Given the description of an element on the screen output the (x, y) to click on. 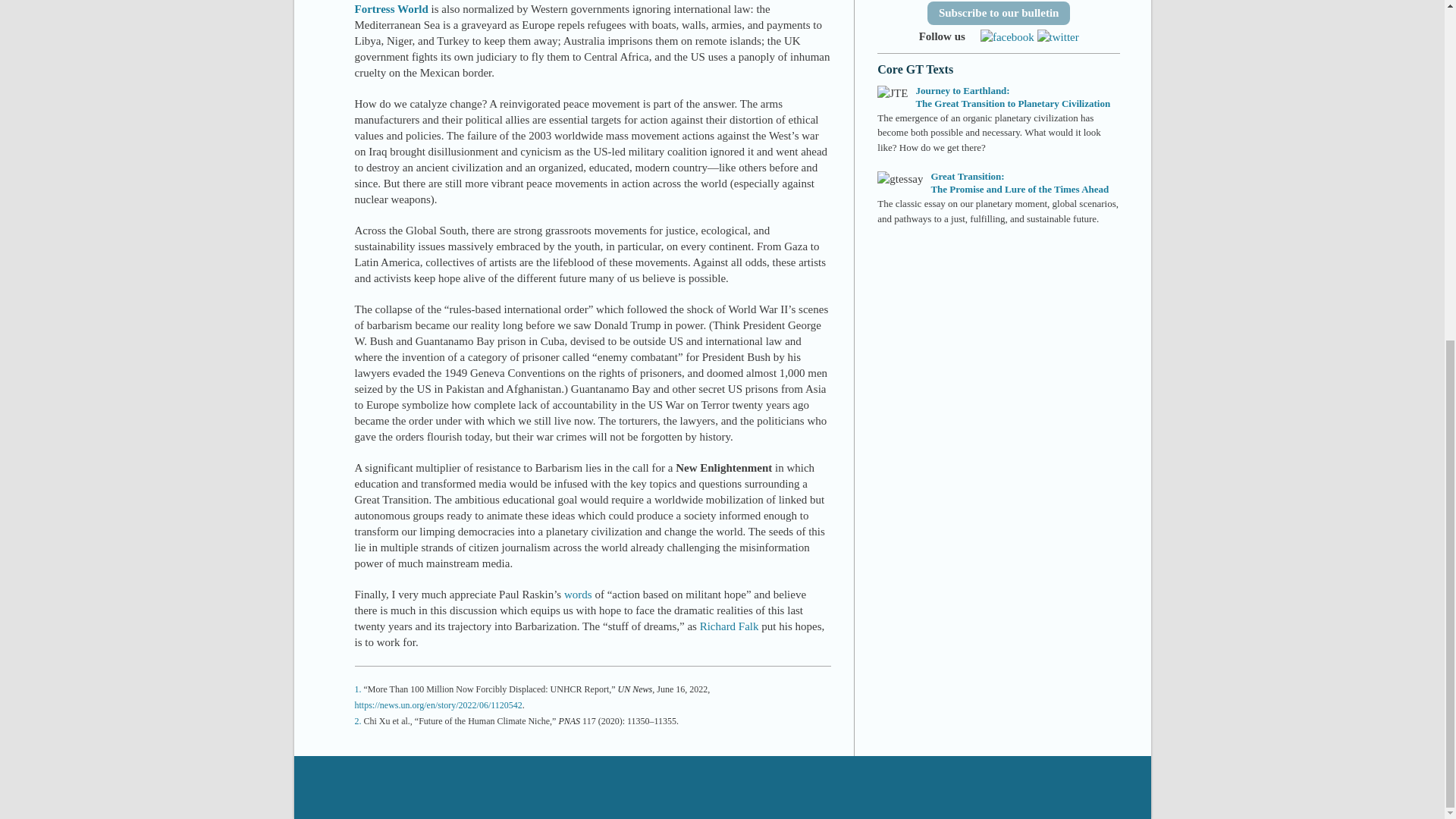
Fortress World (391, 9)
words (578, 594)
Richard Falk (729, 625)
